Given the description of an element on the screen output the (x, y) to click on. 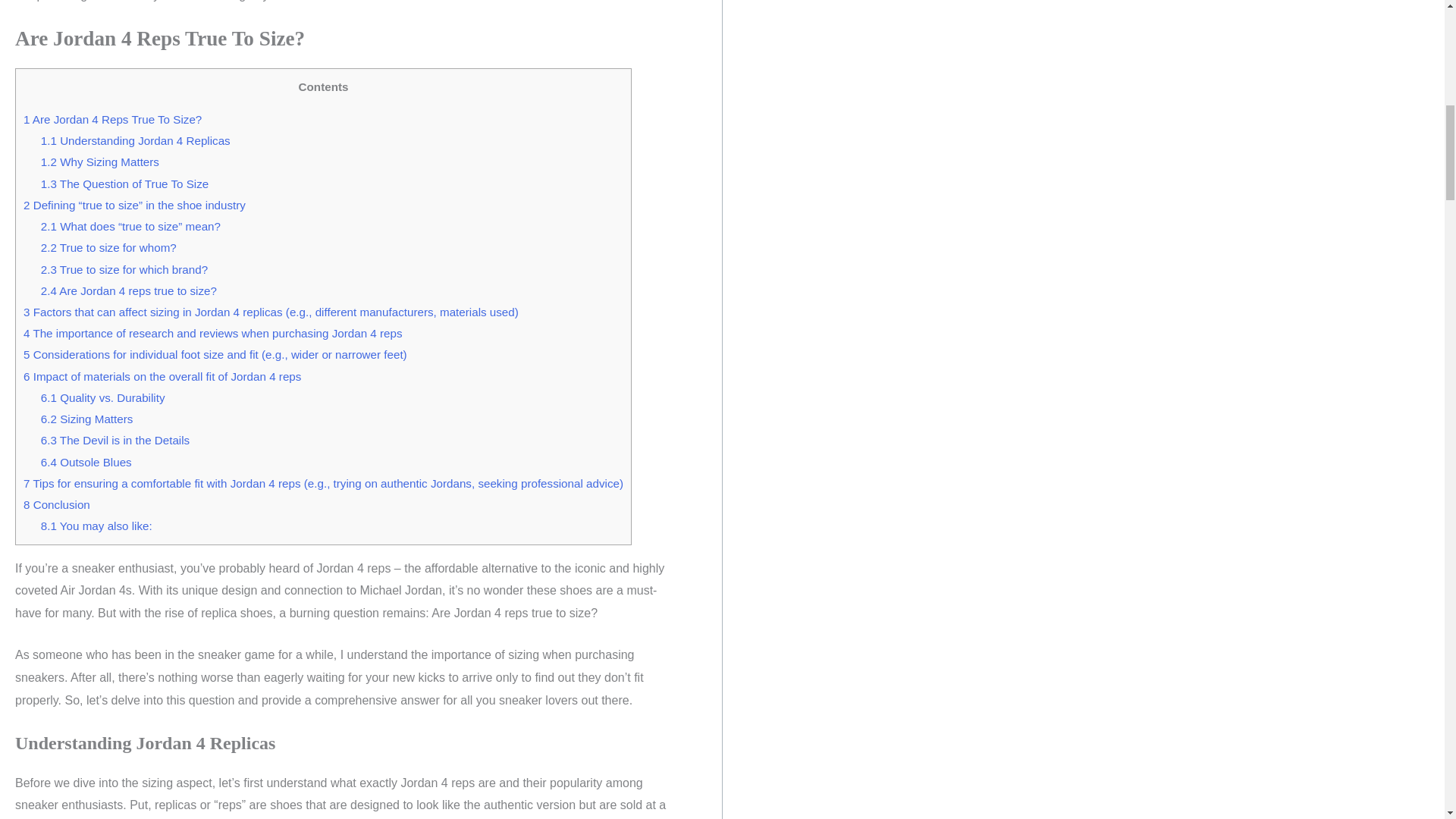
6.2 Sizing Matters (86, 418)
1.1 Understanding Jordan 4 Replicas (135, 140)
6.3 The Devil is in the Details (114, 440)
1.2 Why Sizing Matters (99, 161)
1.3 The Question of True To Size (124, 183)
2.4 Are Jordan 4 reps true to size? (128, 290)
6.4 Outsole Blues (86, 461)
2.3 True to size for which brand? (124, 269)
1 Are Jordan 4 Reps True To Size? (112, 119)
6 Impact of materials on the overall fit of Jordan 4 reps (162, 376)
8.1 You may also like: (96, 525)
2.2 True to size for whom? (108, 246)
6.1 Quality vs. Durability (102, 397)
8 Conclusion (56, 504)
